Given the description of an element on the screen output the (x, y) to click on. 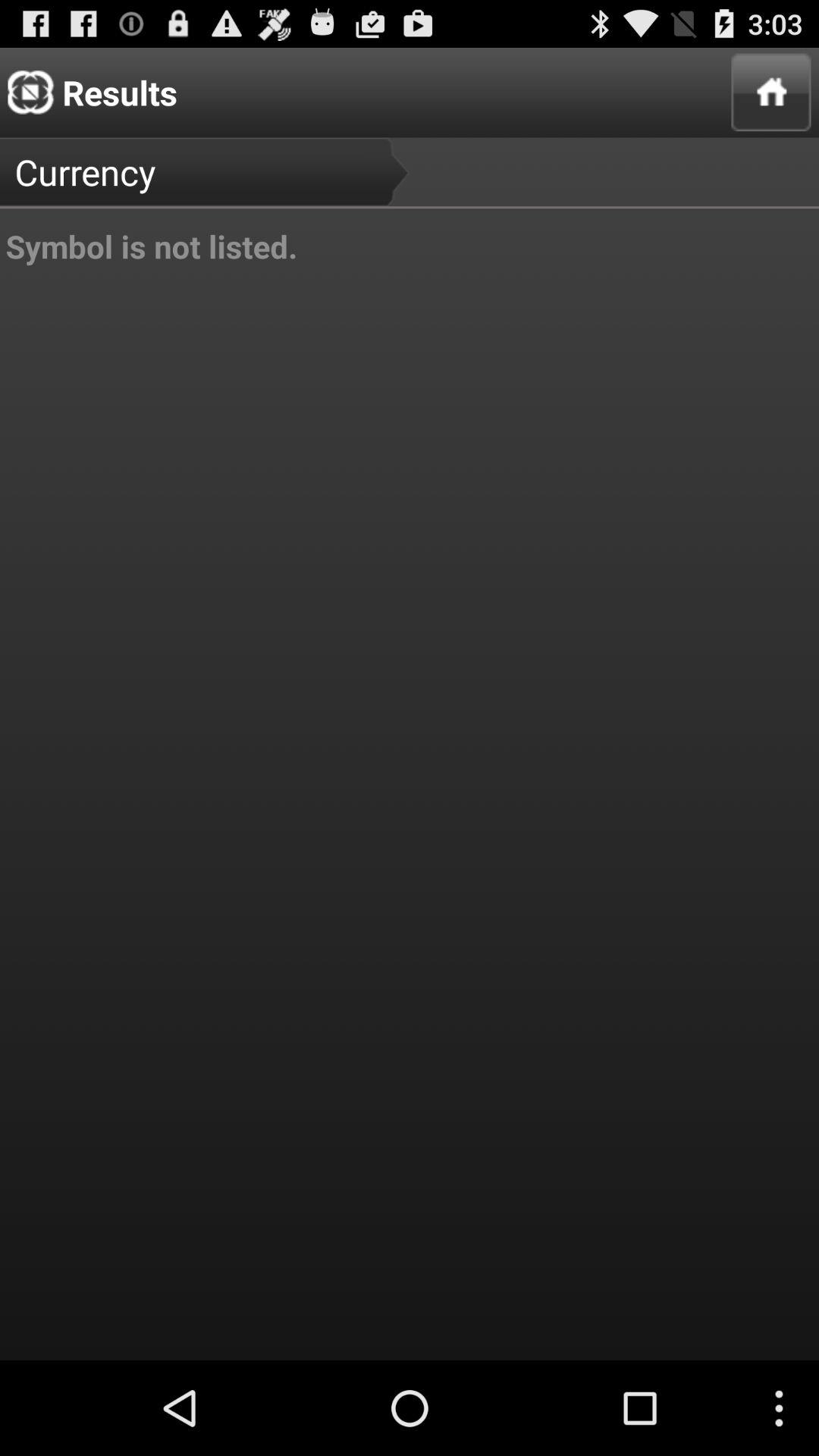
press item next to currency item (771, 92)
